Given the description of an element on the screen output the (x, y) to click on. 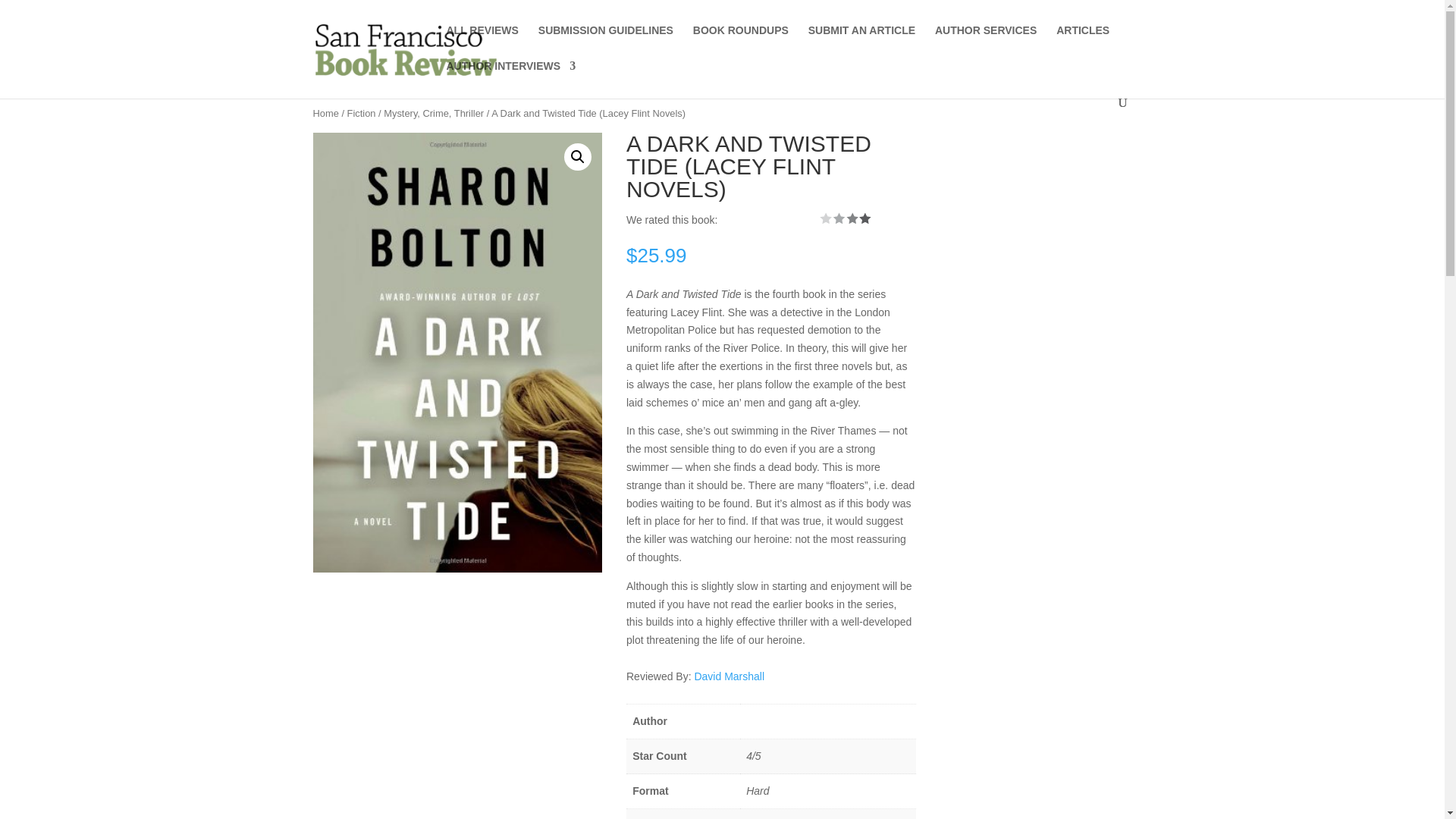
Mystery, Crime, Thriller (433, 112)
SUBMIT AN ARTICLE (861, 42)
AUTHOR SERVICES (985, 42)
AUTHOR INTERVIEWS (510, 78)
SUBMISSION GUIDELINES (605, 42)
BOOK ROUNDUPS (741, 42)
David Marshall (729, 676)
ARTICLES (1083, 42)
ALL REVIEWS (481, 42)
Fiction (361, 112)
Home (325, 112)
